Given the description of an element on the screen output the (x, y) to click on. 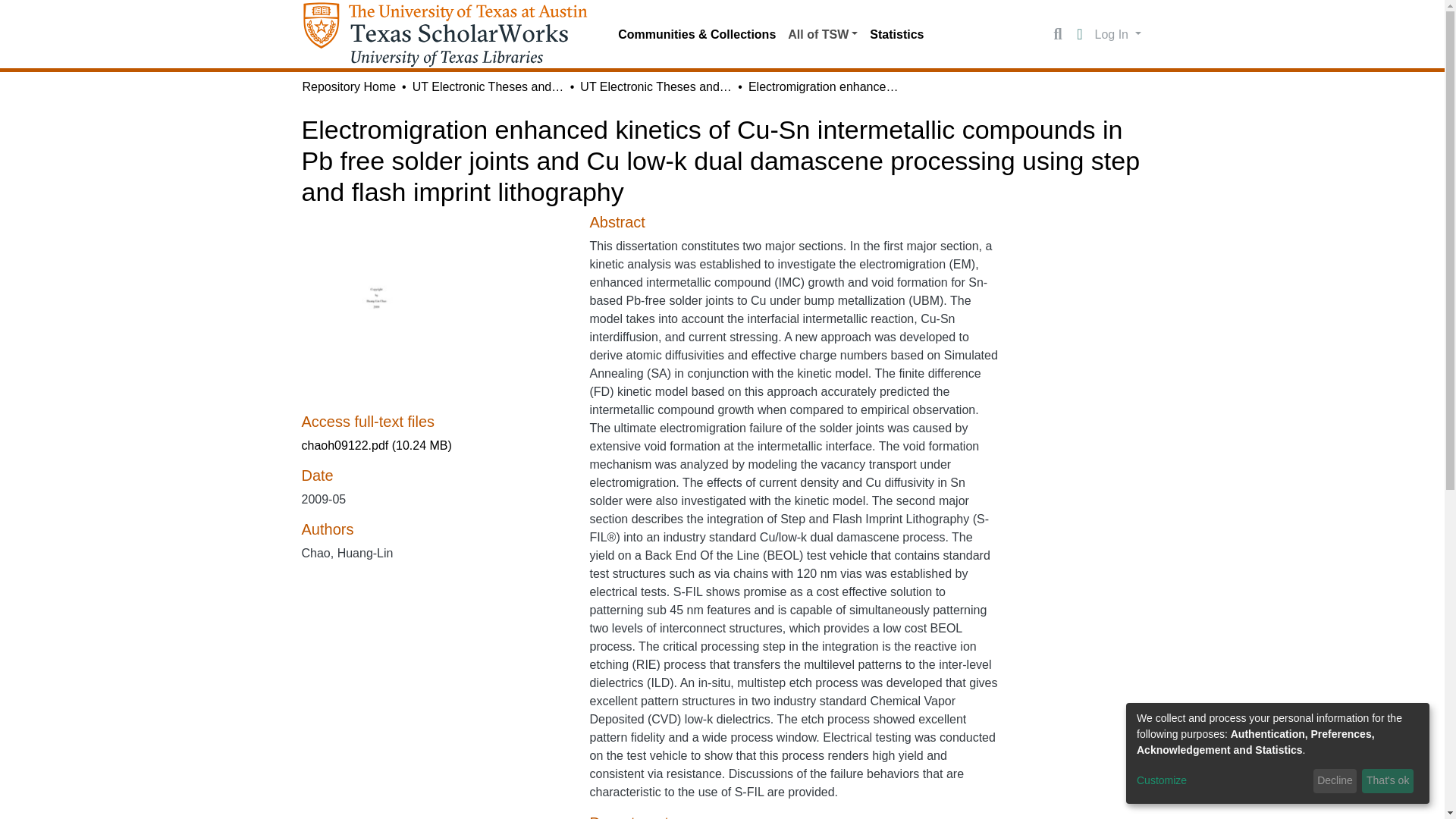
Language switch (1079, 34)
UT Electronic Theses and Dissertations (488, 86)
All of TSW (822, 34)
UT Electronic Theses and Dissertations (655, 86)
Statistics (896, 34)
Statistics (896, 34)
Repository Home (348, 86)
Log In (1117, 33)
Search (1057, 34)
